Given the description of an element on the screen output the (x, y) to click on. 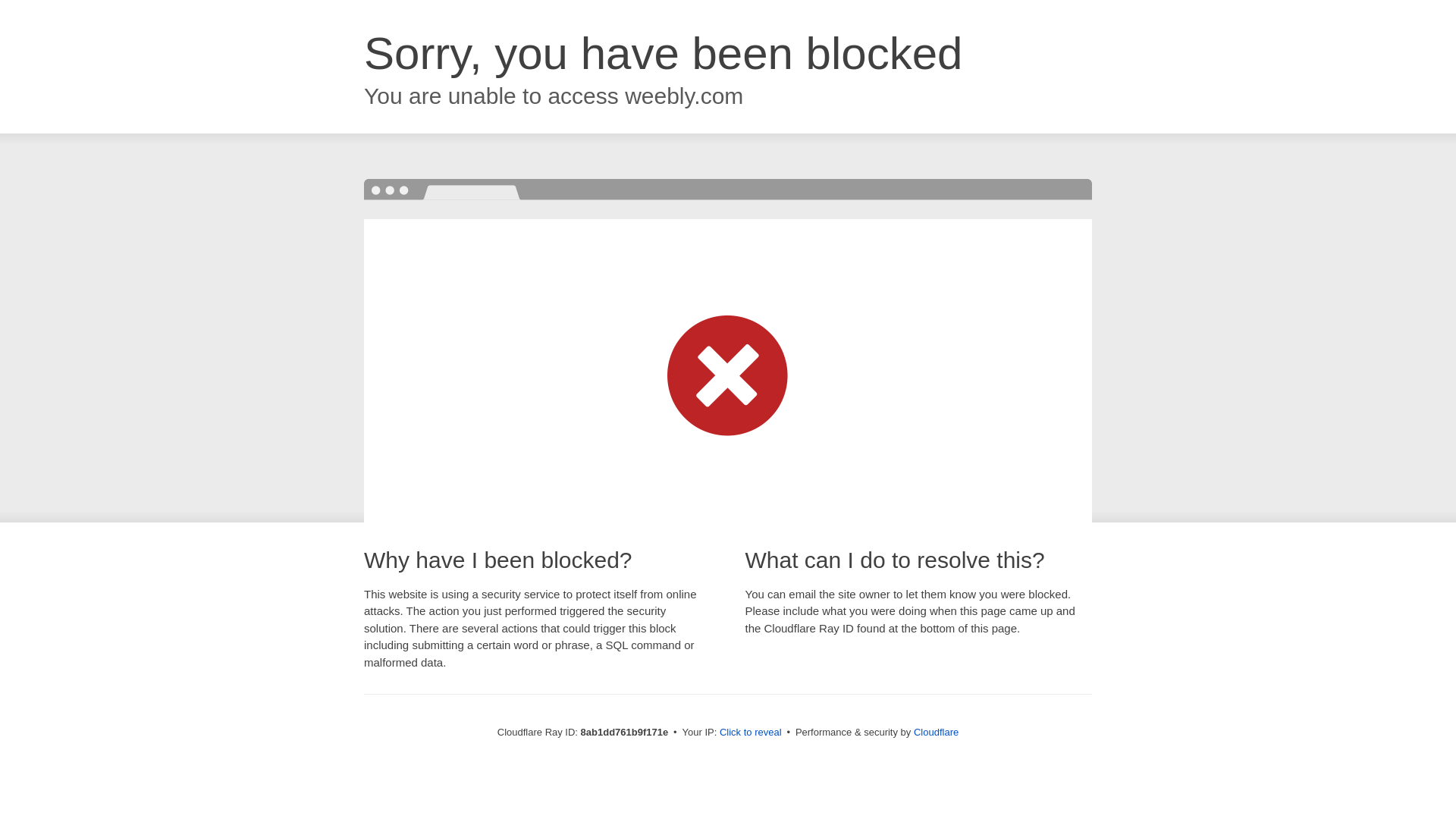
Click to reveal (750, 732)
Cloudflare (936, 731)
